Given the description of an element on the screen output the (x, y) to click on. 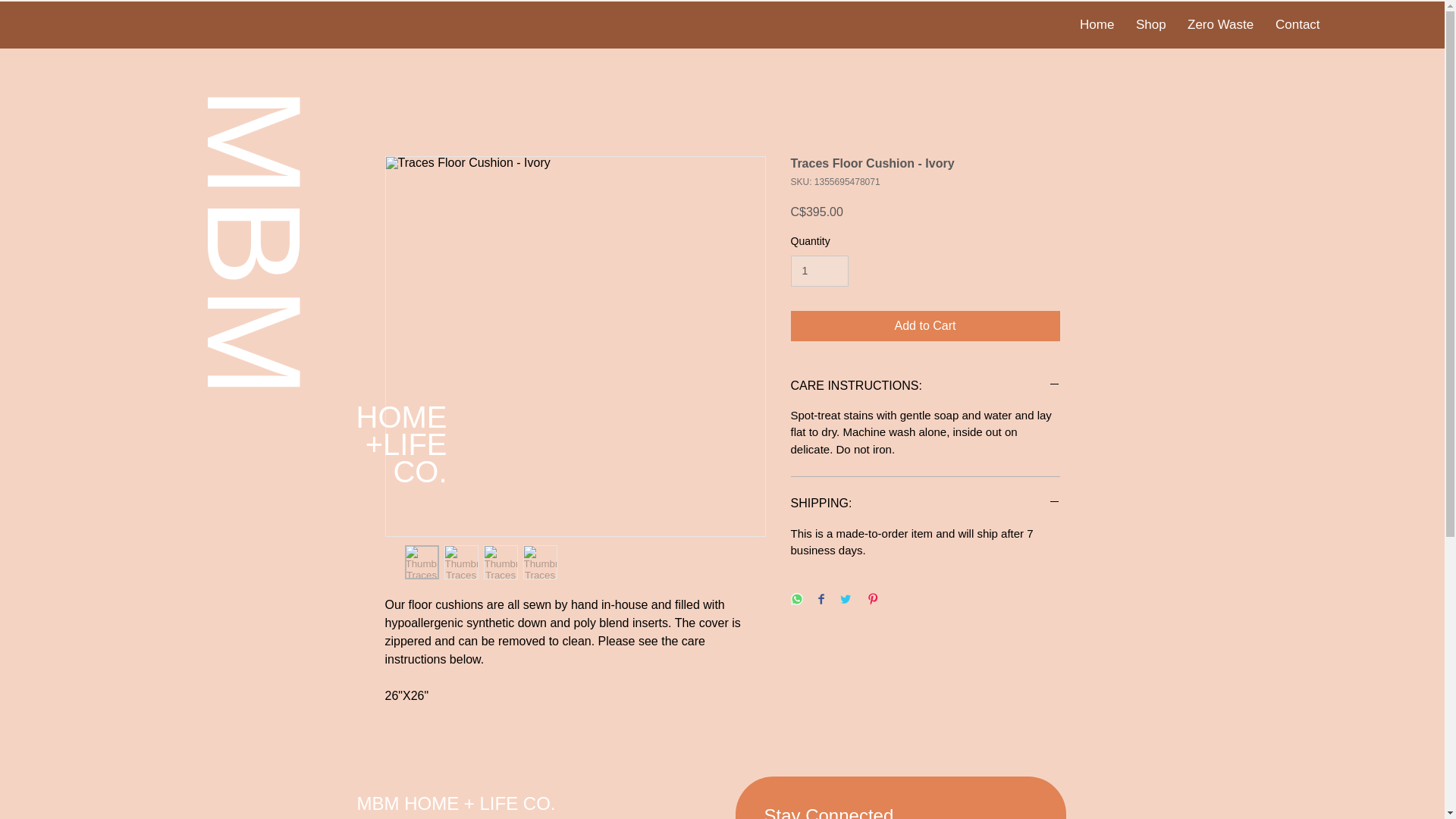
CARE INSTRUCTIONS: (924, 385)
1 (818, 270)
Add to Cart (924, 326)
Zero Waste (1219, 24)
Shop (1150, 24)
Home (1096, 24)
Contact (1296, 24)
SHIPPING: (924, 503)
